Given the description of an element on the screen output the (x, y) to click on. 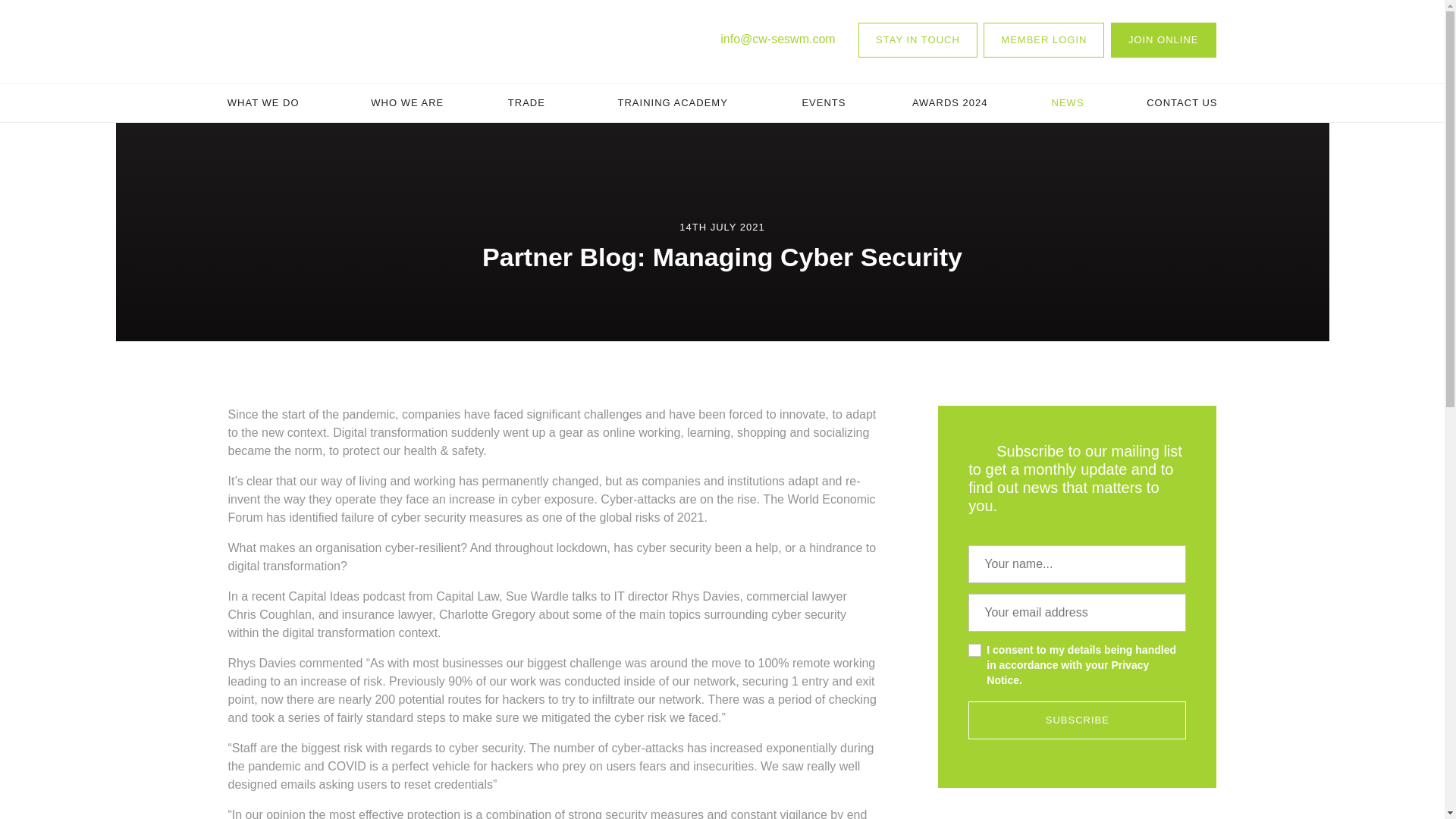
Subscribe (1077, 720)
TRADE (526, 103)
MEMBER LOGIN (1043, 39)
searchsubmit (1005, 177)
The Chamber (293, 41)
WHAT WE DO (262, 103)
STAY IN TOUCH (917, 39)
EVENTS (823, 103)
WHO WE ARE (407, 103)
TRAINING ACADEMY (672, 103)
